Given the description of an element on the screen output the (x, y) to click on. 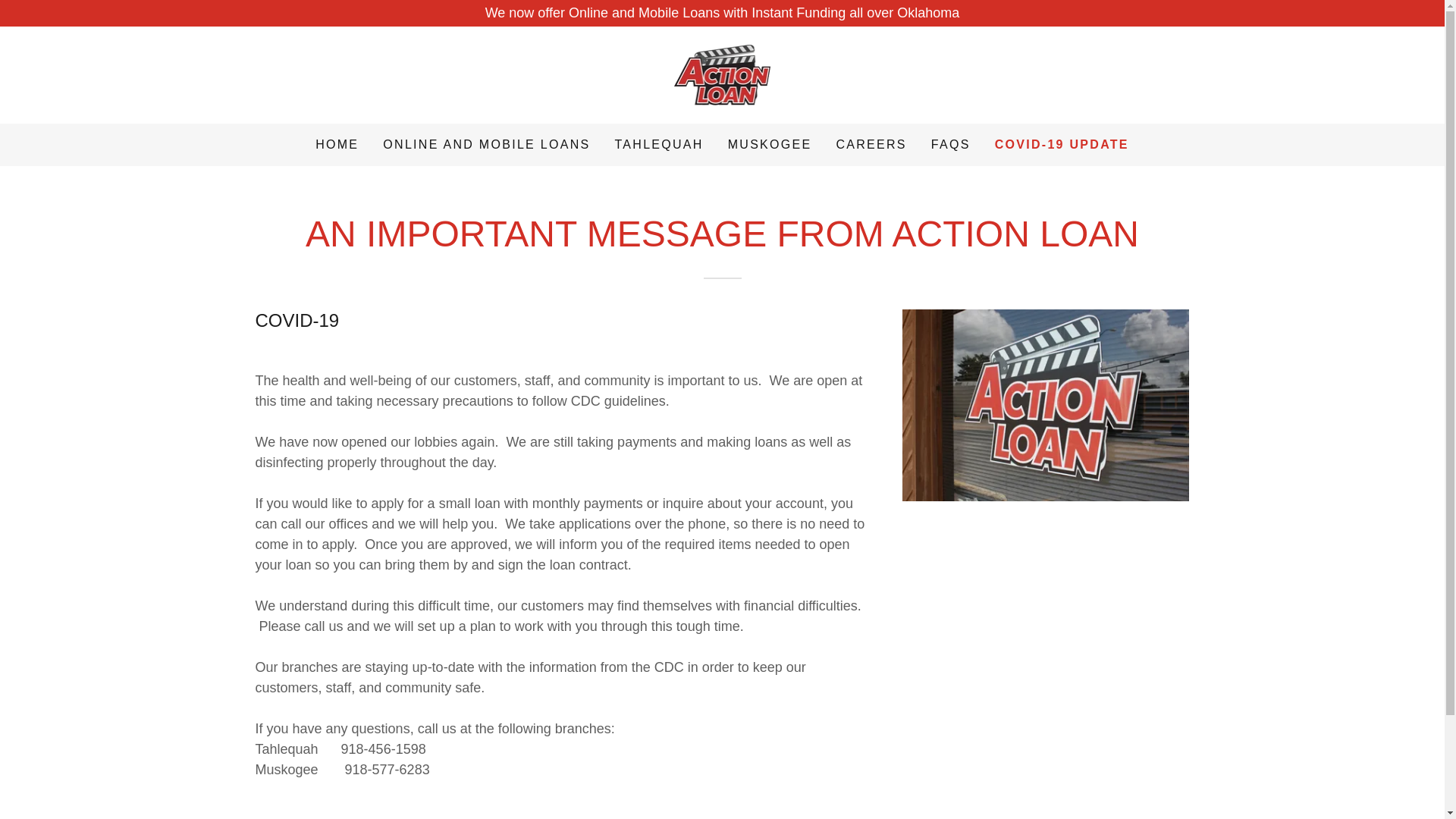
TAHLEQUAH (658, 144)
HOME (336, 144)
MUSKOGEE (769, 144)
ONLINE AND MOBILE LOANS (486, 144)
CAREERS (871, 144)
Action Loan (722, 73)
COVID-19 UPDATE (1061, 144)
FAQS (950, 144)
